Given the description of an element on the screen output the (x, y) to click on. 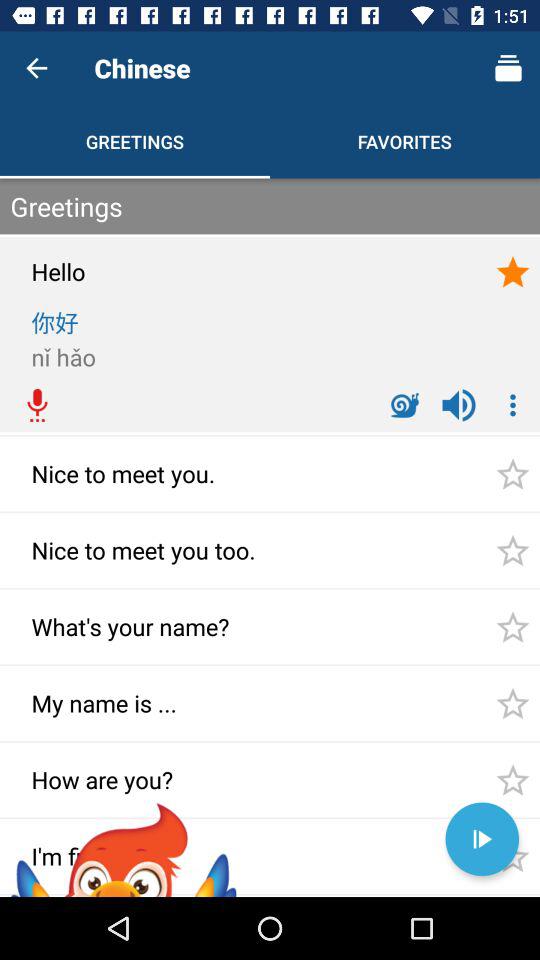
click on the sound button (458, 405)
click on the fourth star from the top (512, 627)
click on the button next to sound button (512, 405)
